Given the description of an element on the screen output the (x, y) to click on. 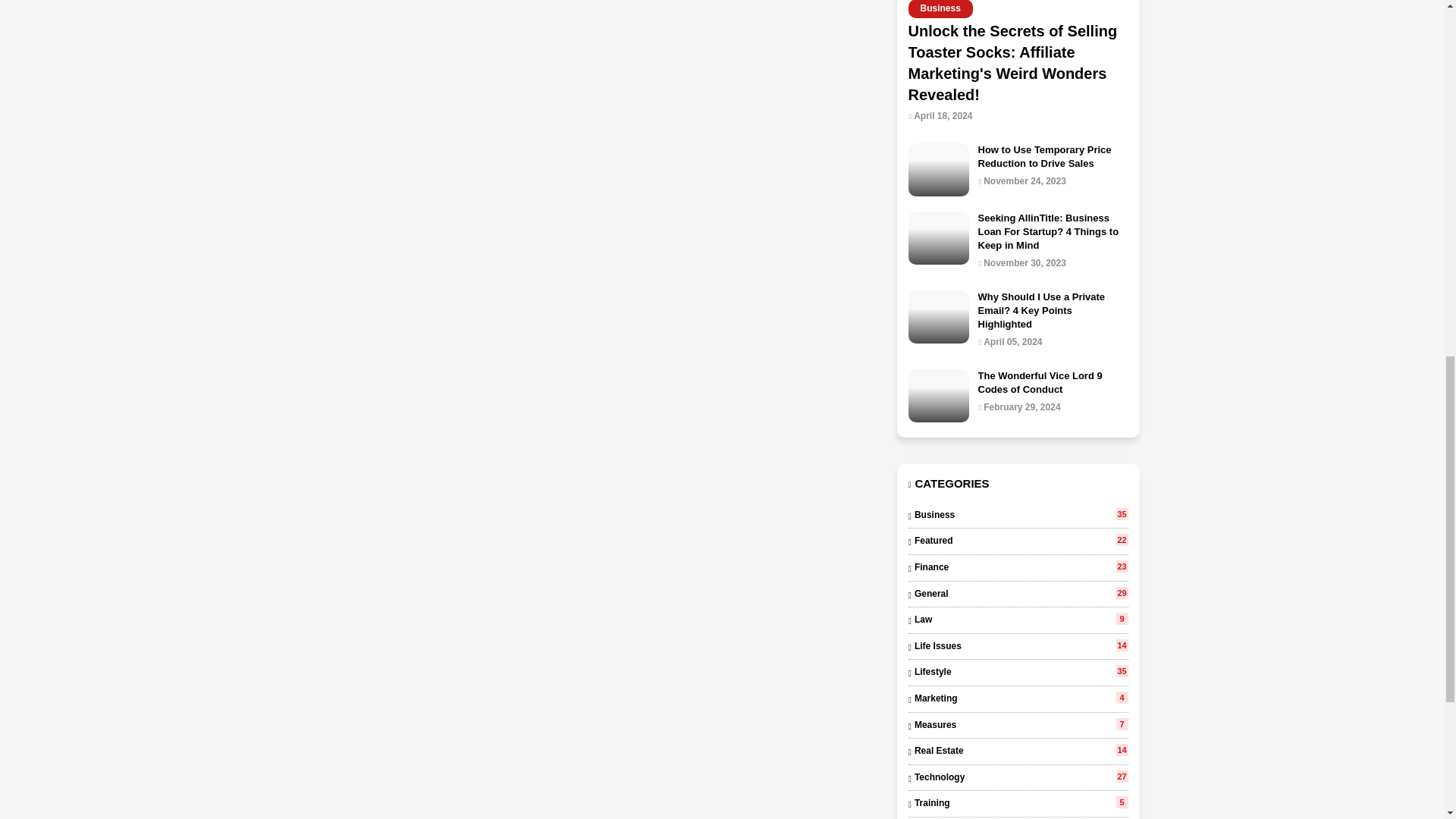
How to Use Temporary Price Reduction to Drive Sales (938, 169)
How to Use Temporary Price Reduction to Drive Sales (1018, 567)
Why Should I Use a Private Email? 4 Key Points Highlighted (1018, 594)
Why Should I Use a Private Email? 4 Key Points Highlighted (1053, 156)
Why Should I Use a Private Email? 4 Key Points Highlighted (1053, 311)
How to Use Temporary Price Reduction to Drive Sales (1018, 515)
The Wonderful Vice Lord 9 Codes of Conduct (1053, 311)
The Wonderful Vice Lord 9 Codes of Conduct (938, 316)
